Given the description of an element on the screen output the (x, y) to click on. 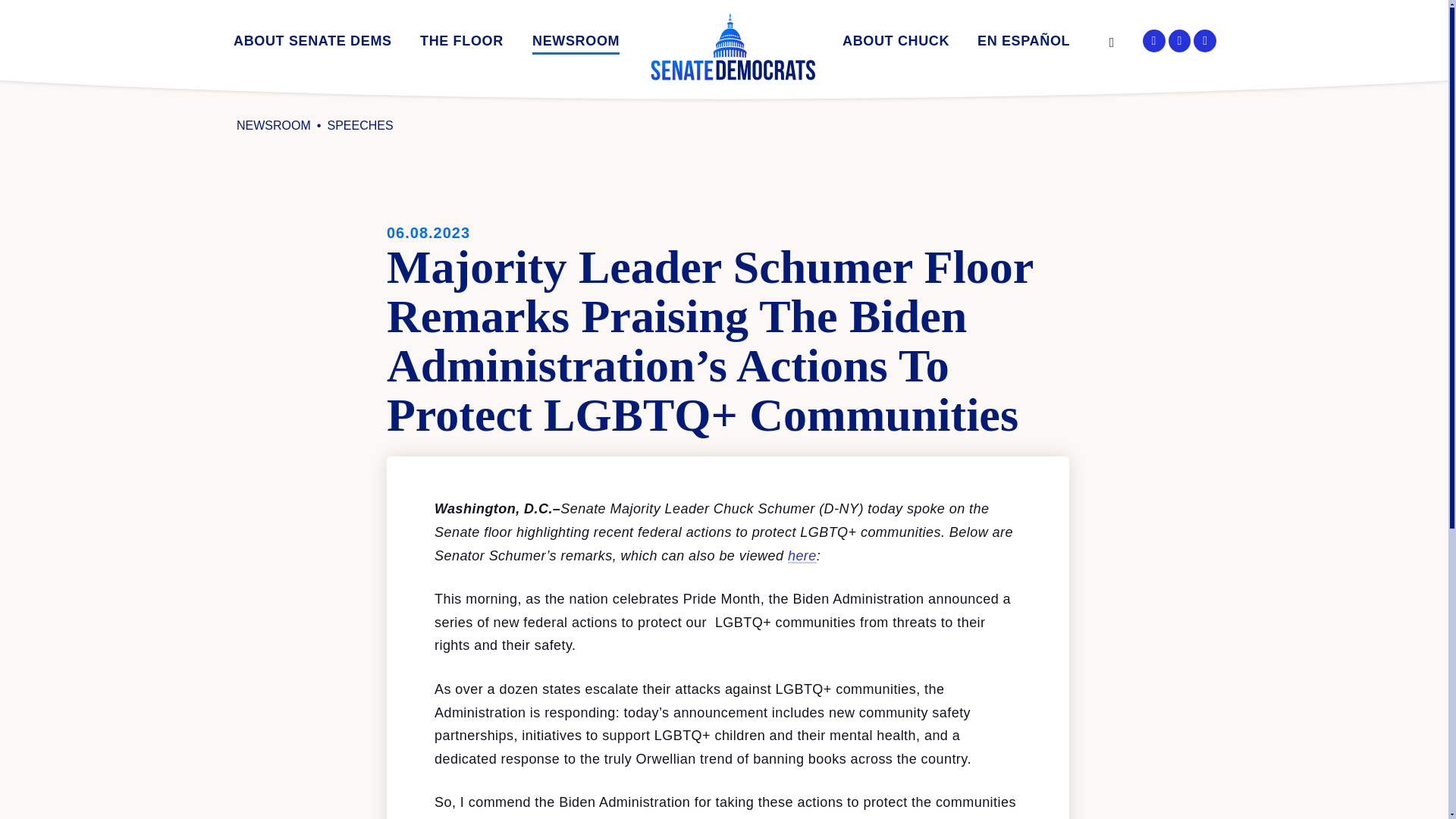
Senator Democrats Facebook (1153, 40)
Wrap Up (533, 65)
About Chuck (896, 44)
THE FLOOR (461, 44)
Website Search Open (1109, 43)
here (801, 555)
ABOUT SENATE DEMS (311, 44)
Nuestros Valores (1090, 65)
Newsroom (576, 44)
Senator Democrats Twitter (1179, 40)
